Given the description of an element on the screen output the (x, y) to click on. 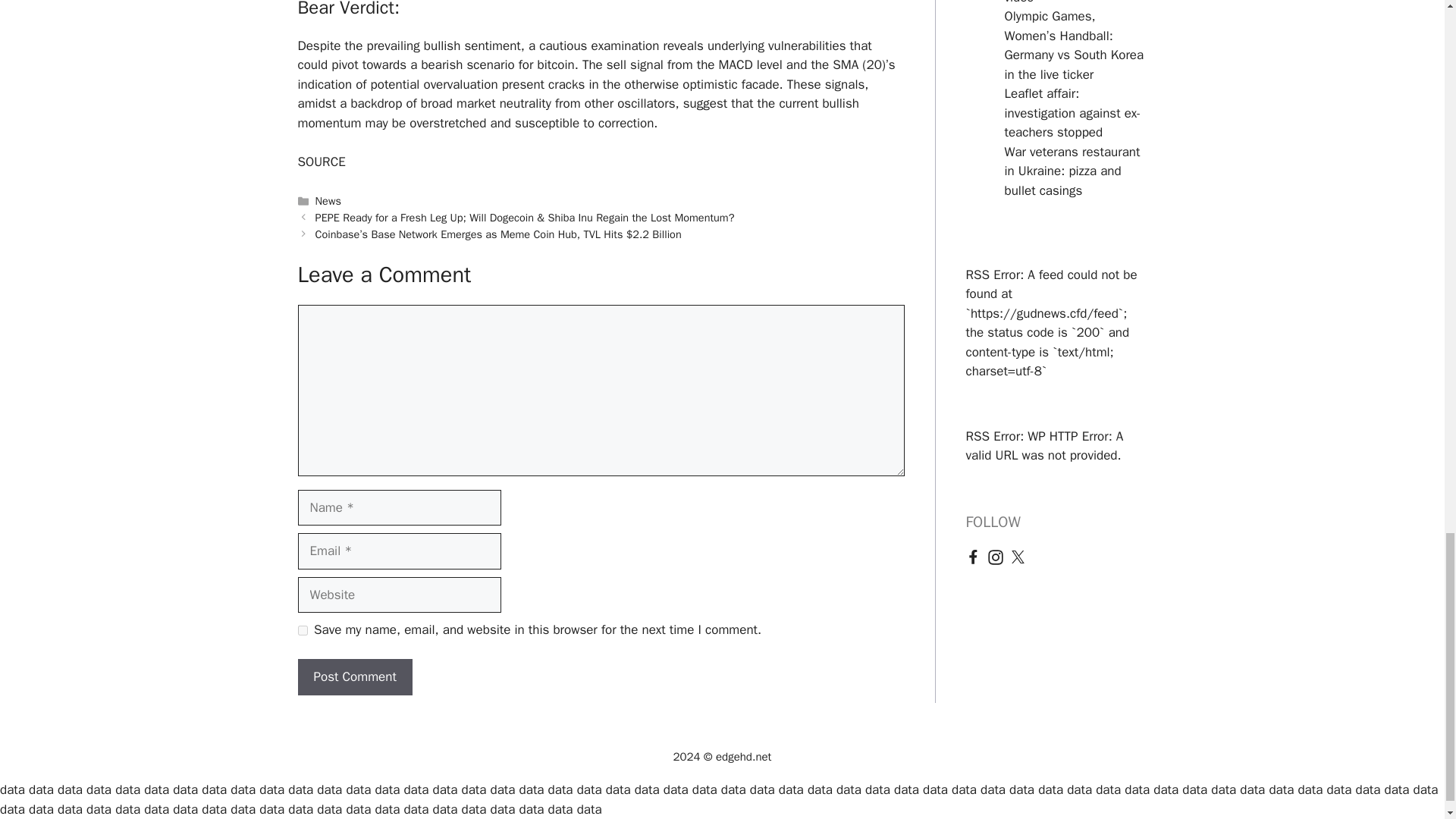
Post Comment (354, 677)
News (327, 201)
Post Comment (354, 677)
yes (302, 630)
SOURCE (321, 161)
